Given the description of an element on the screen output the (x, y) to click on. 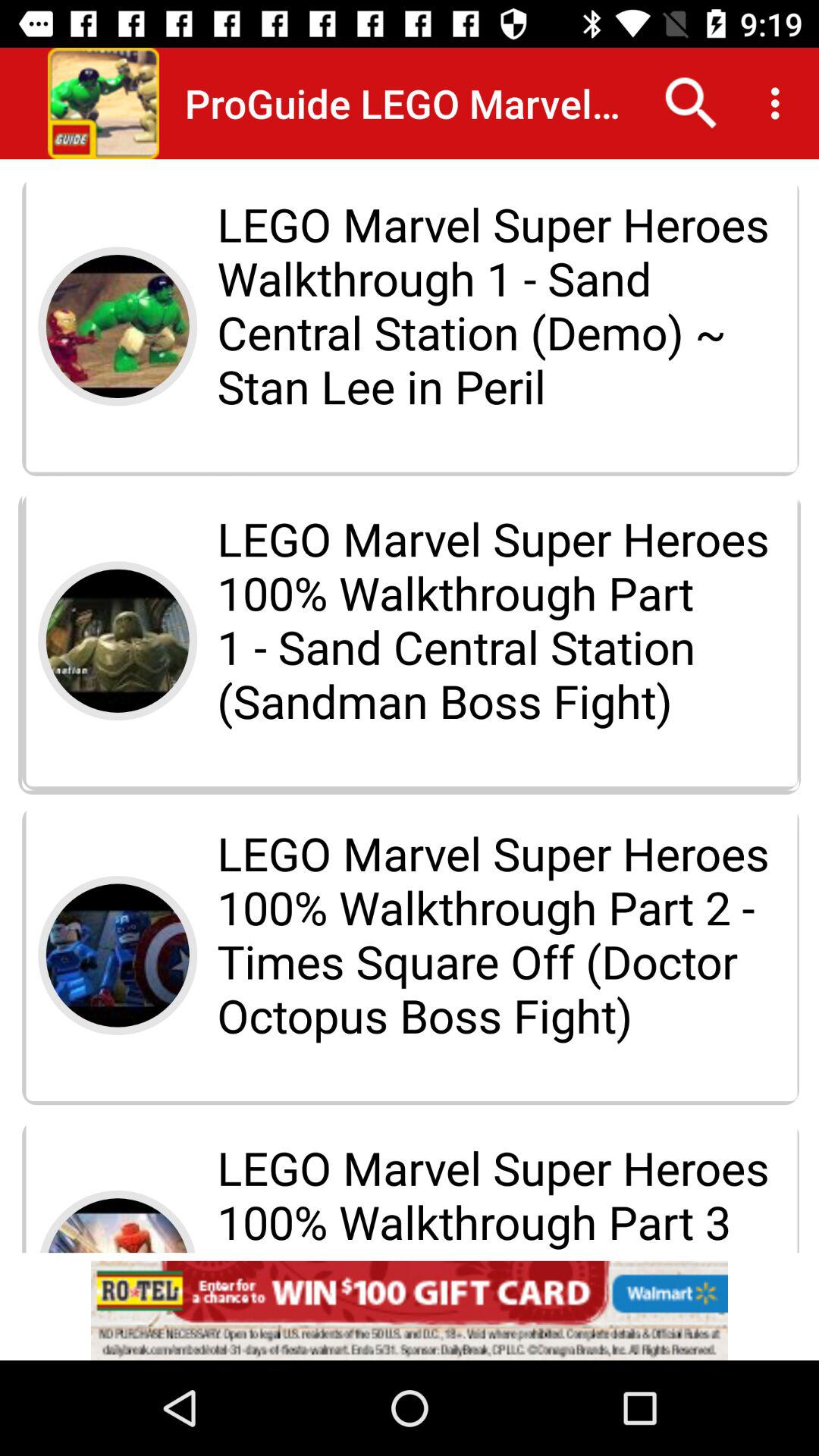
win card (409, 1310)
